Given the description of an element on the screen output the (x, y) to click on. 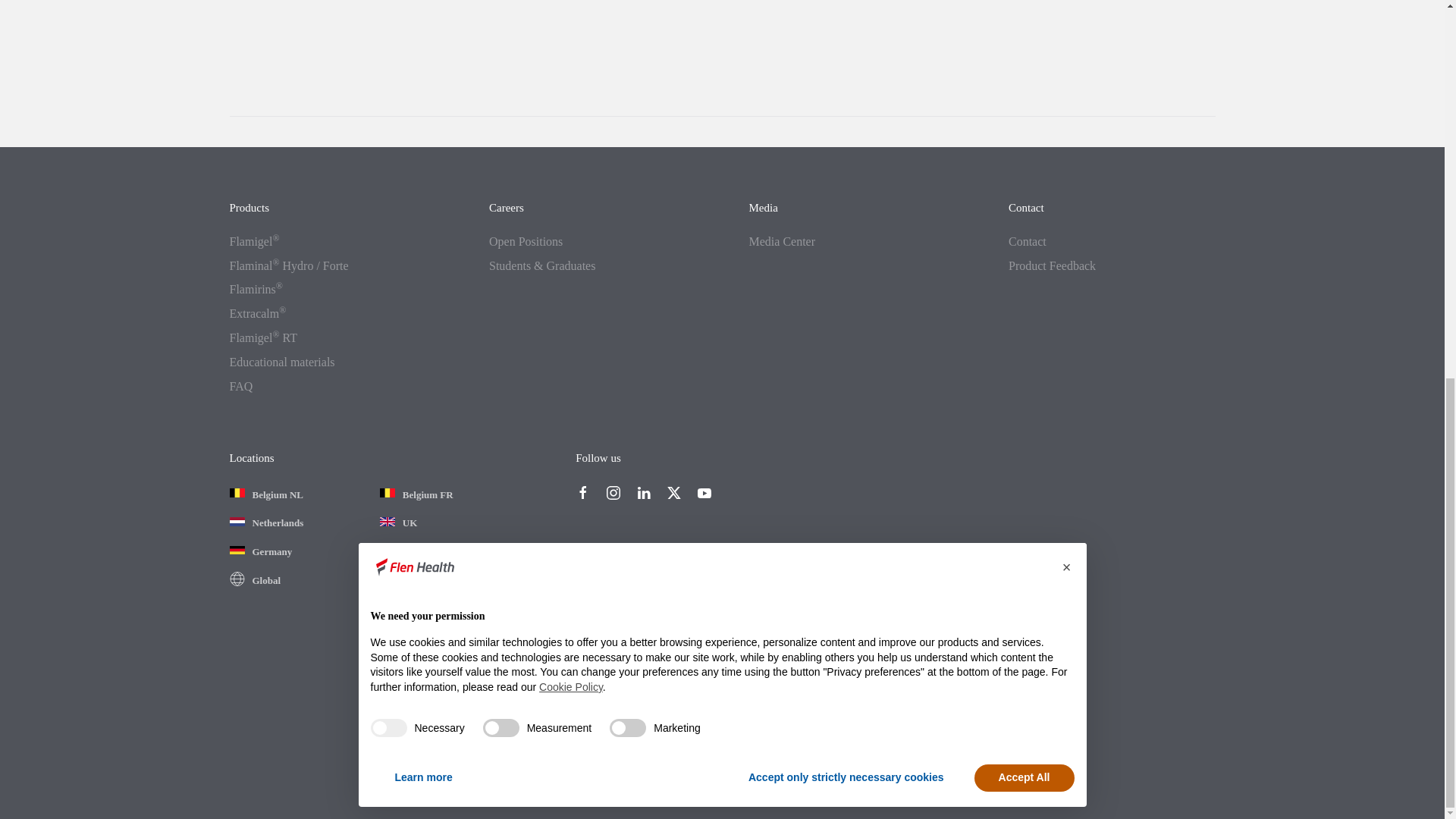
true (387, 27)
false (501, 27)
false (628, 27)
Form 0 (721, 50)
